Given the description of an element on the screen output the (x, y) to click on. 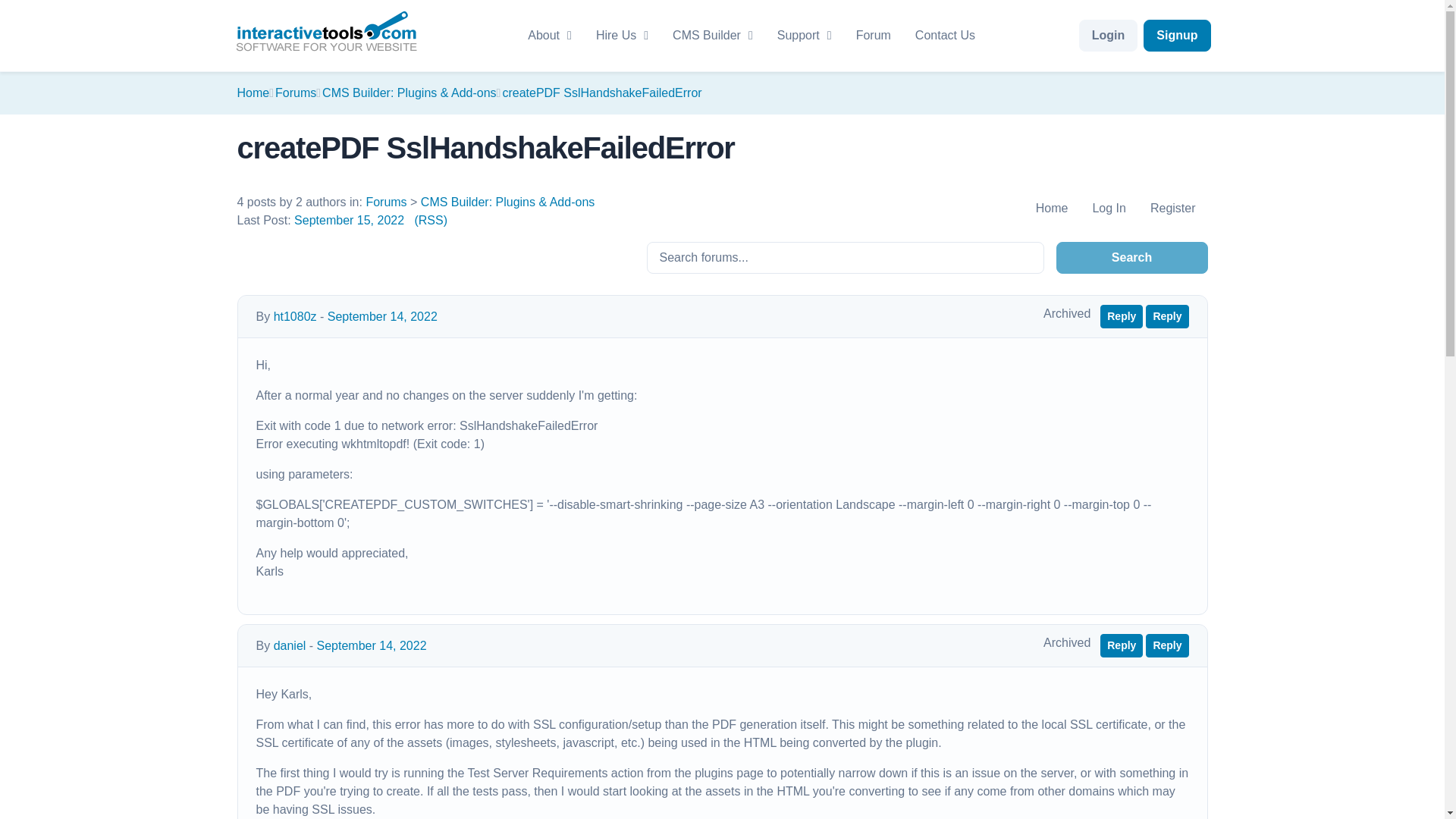
Sep 14th, 2022 4:48 am (382, 316)
Sep 15th, 2022 5:25 pm (349, 219)
Sep 14th, 2022 2:58 pm (371, 645)
About (549, 35)
